Given the description of an element on the screen output the (x, y) to click on. 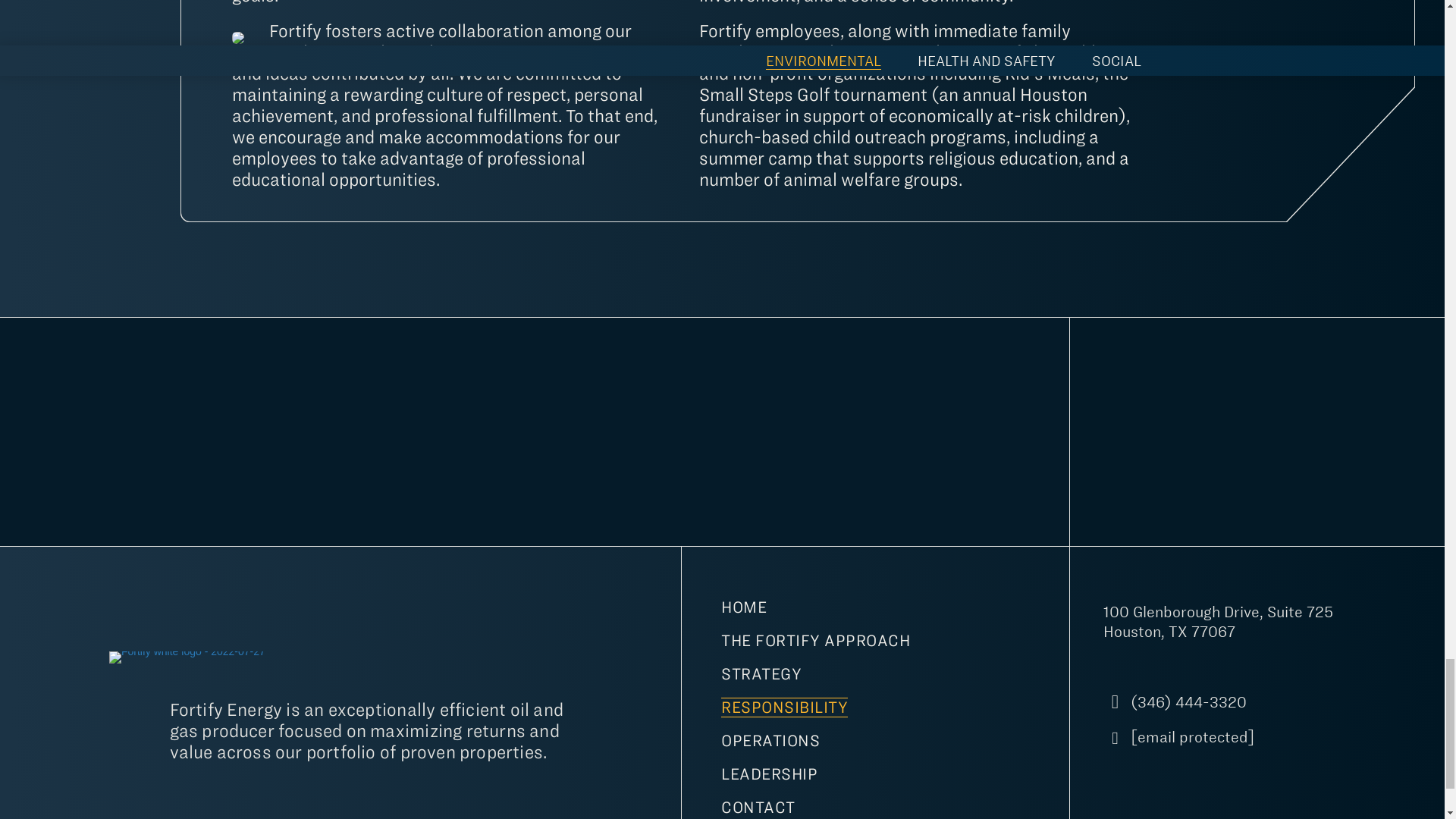
OPERATIONS (770, 743)
STRATEGY (761, 676)
RESPONSIBILITY (784, 709)
Fortify white logo - 2022-07-27 (186, 657)
THE FORTIFY APPROACH (815, 643)
LEADERSHIP (769, 776)
HOME (743, 609)
CONTACT (758, 806)
